Given the description of an element on the screen output the (x, y) to click on. 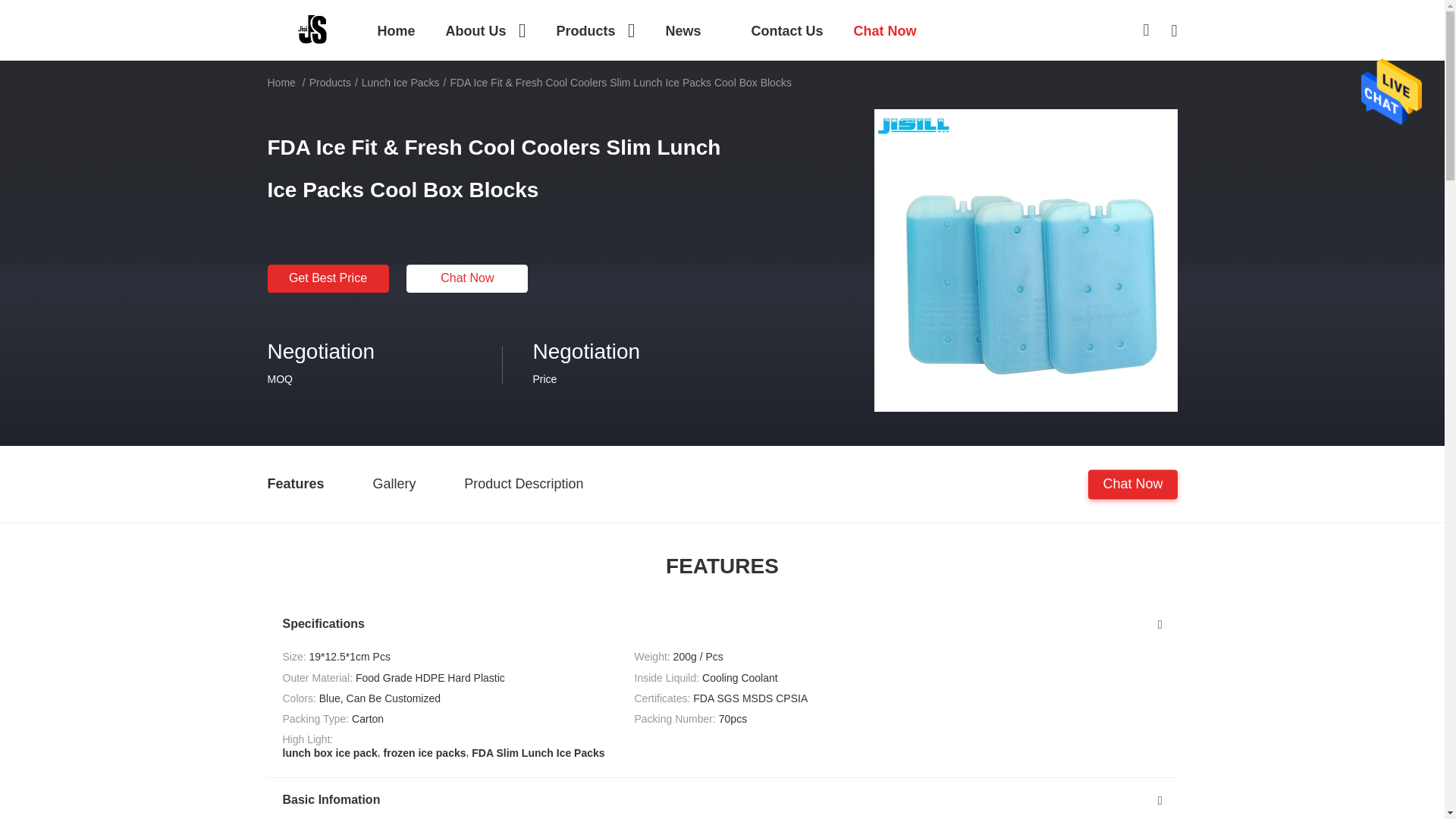
About Us (485, 30)
Products (595, 30)
About Us (485, 30)
Products (595, 30)
Changzhou jisi cold chain technology Co.,ltd (312, 28)
